Given the description of an element on the screen output the (x, y) to click on. 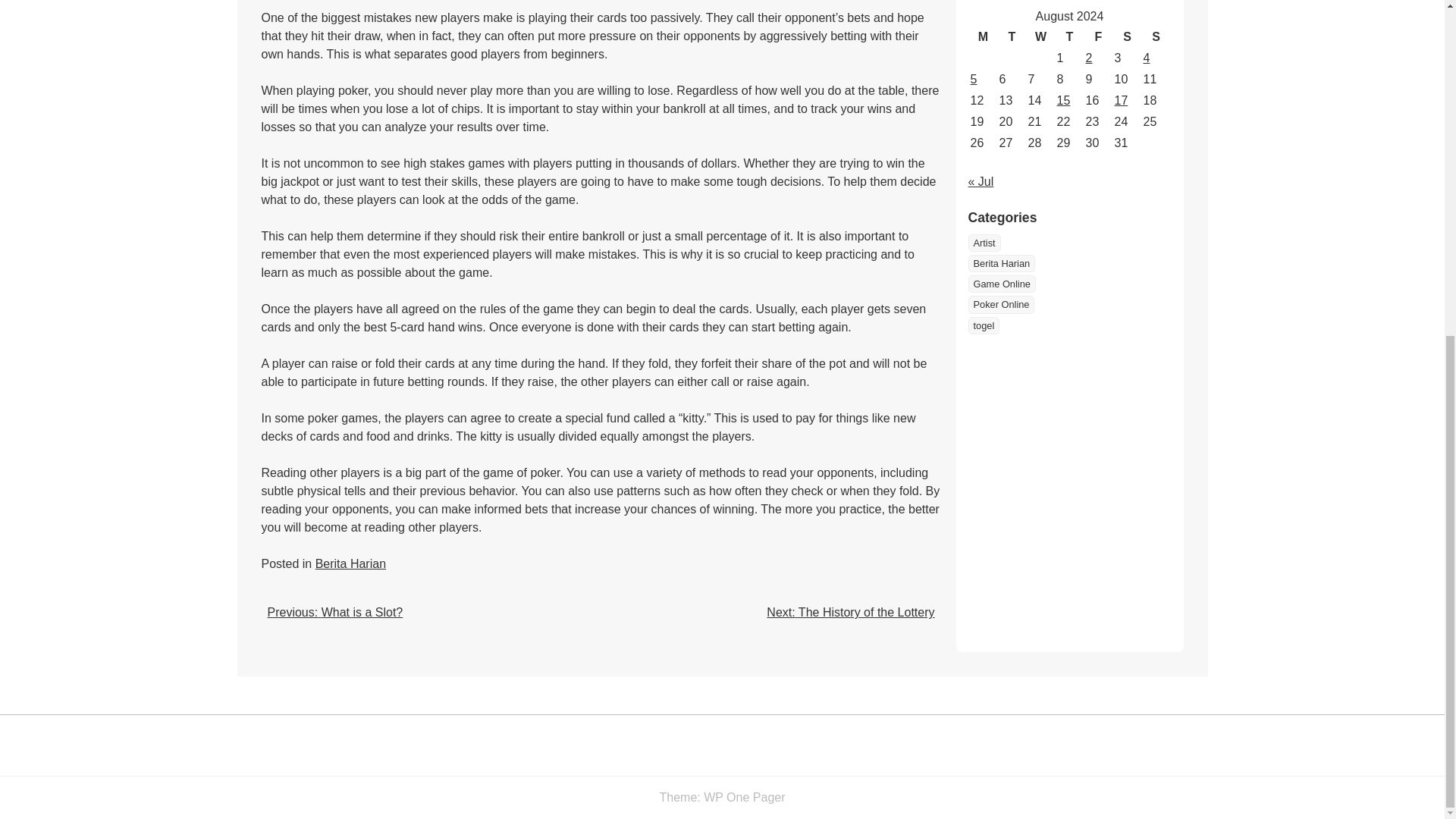
Sunday (1155, 36)
Poker Online (1000, 303)
Berita Harian (1001, 262)
WP One Pager (743, 797)
Wednesday (1040, 36)
Next: The History of the Lottery (850, 612)
togel (983, 325)
Tuesday (1011, 36)
Berita Harian (350, 563)
17 (1121, 100)
